Given the description of an element on the screen output the (x, y) to click on. 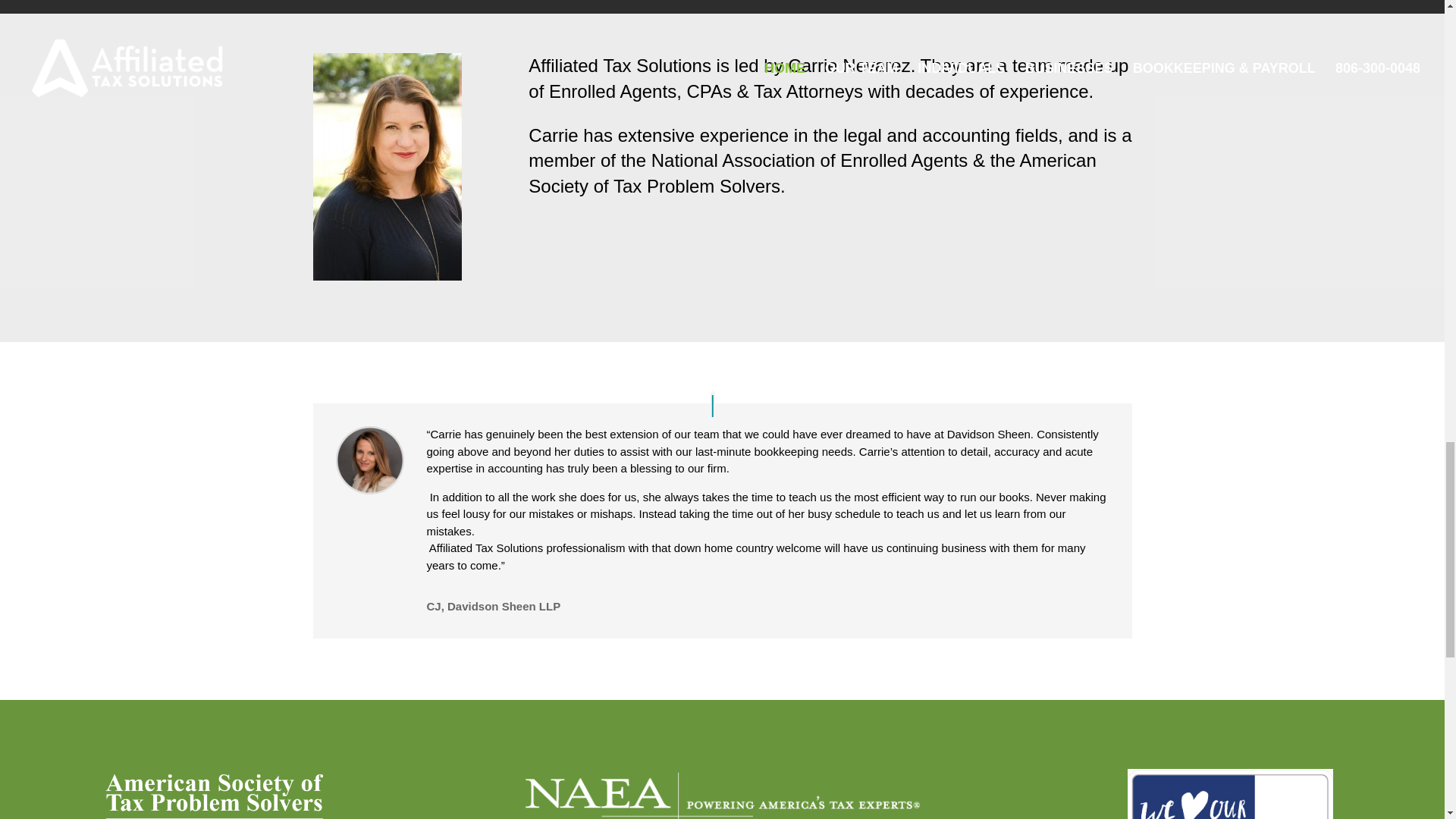
We-Love-Our-Customers (1229, 794)
